Given the description of an element on the screen output the (x, y) to click on. 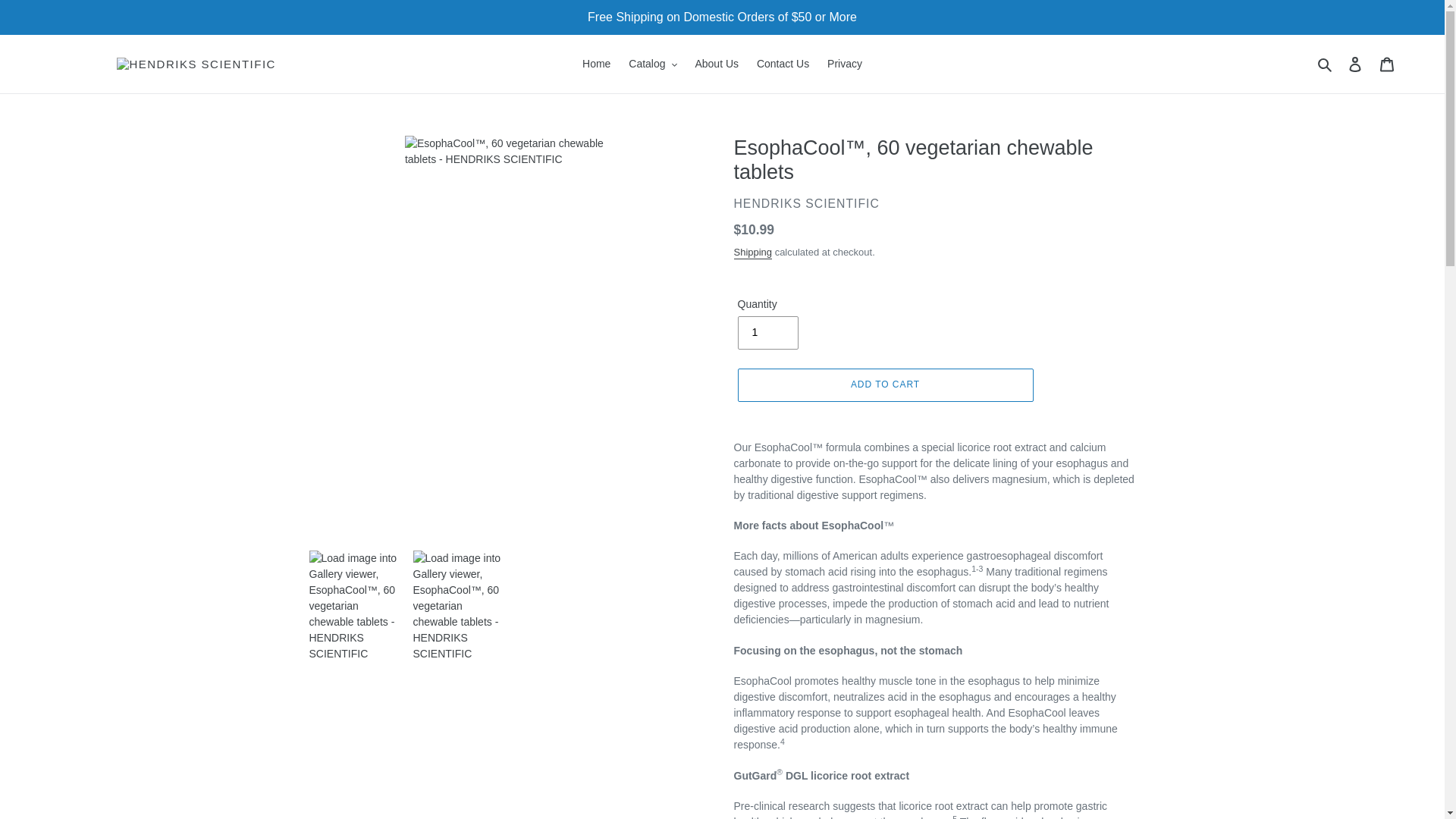
Catalog (652, 64)
1 (766, 332)
Home (596, 64)
About Us (716, 64)
